Given the description of an element on the screen output the (x, y) to click on. 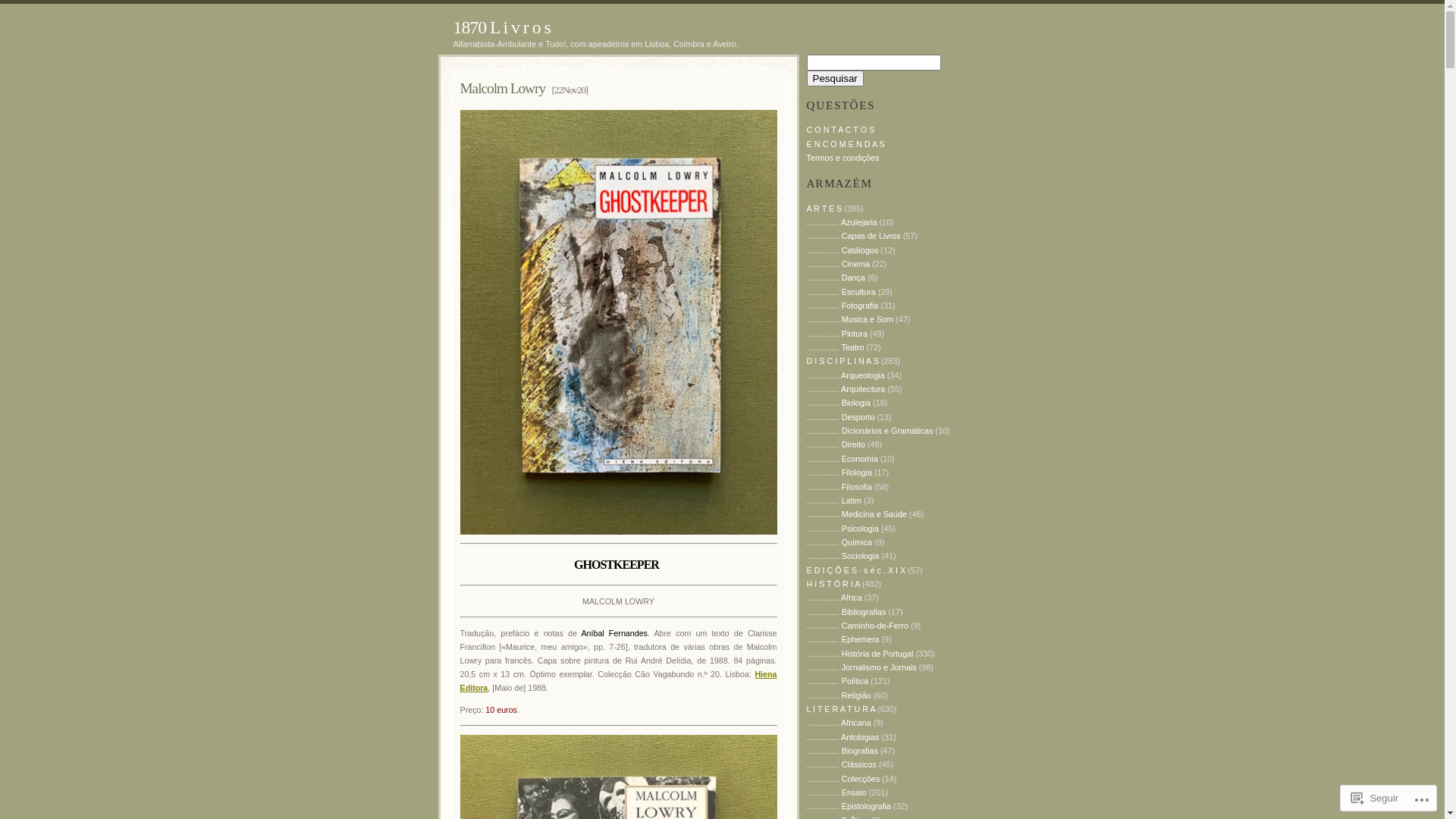
A R T E S Element type: text (824, 208)
Pesquisar Element type: text (834, 78)
C O N T A C T O S Element type: text (840, 129)
Malcolm Lowry Element type: text (502, 88)
Hiena Editora Element type: text (617, 680)
D I S C I P L I N A S Element type: text (842, 360)
L I T E R A T U R A Element type: text (840, 708)
Seguir Element type: text (1374, 797)
E N C O M E N D A S Element type: text (845, 143)
1870 L i v r o s Element type: text (501, 27)
